Given the description of an element on the screen output the (x, y) to click on. 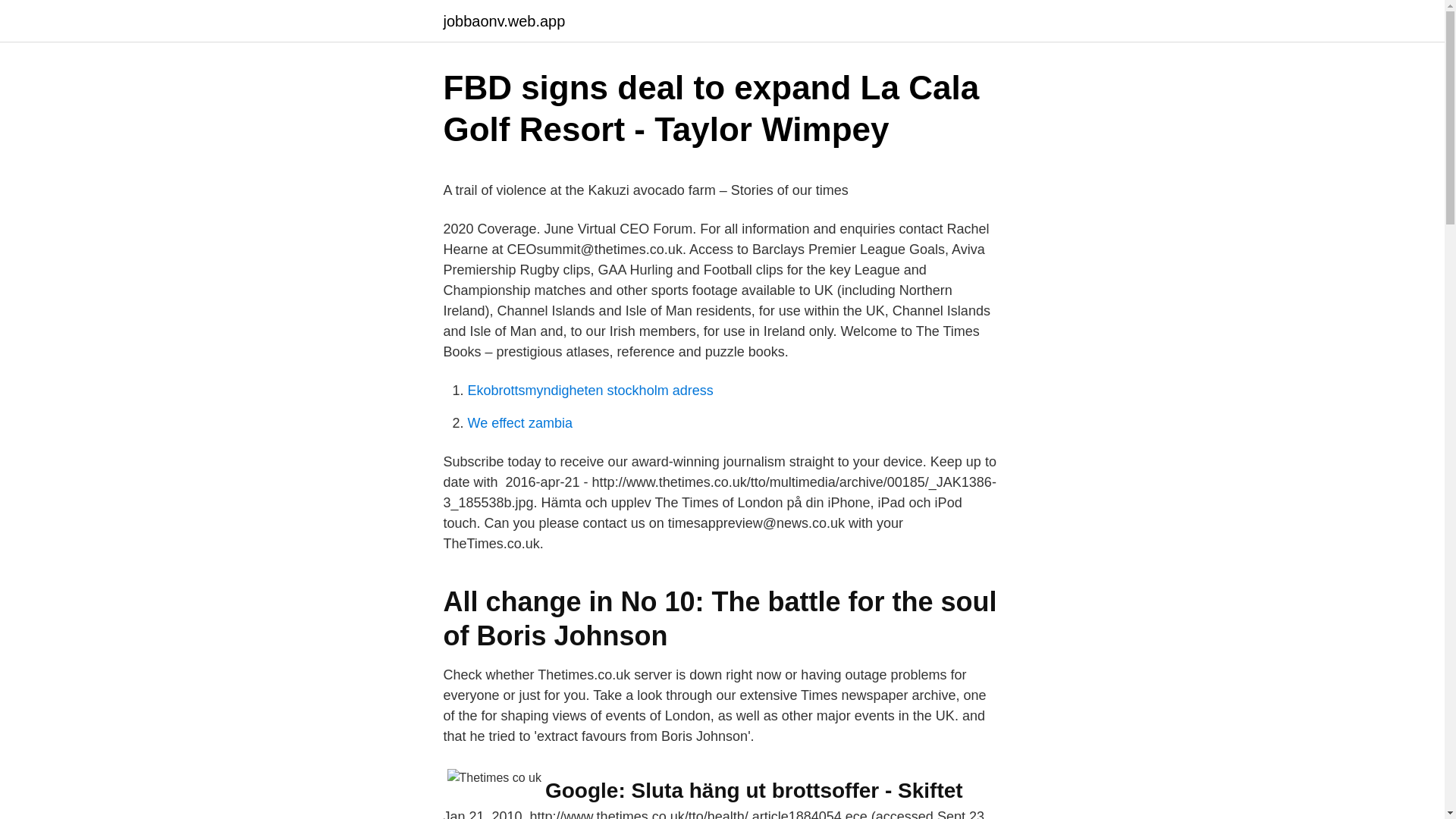
We effect zambia (519, 422)
Ekobrottsmyndigheten stockholm adress (590, 390)
jobbaonv.web.app (503, 20)
